Given the description of an element on the screen output the (x, y) to click on. 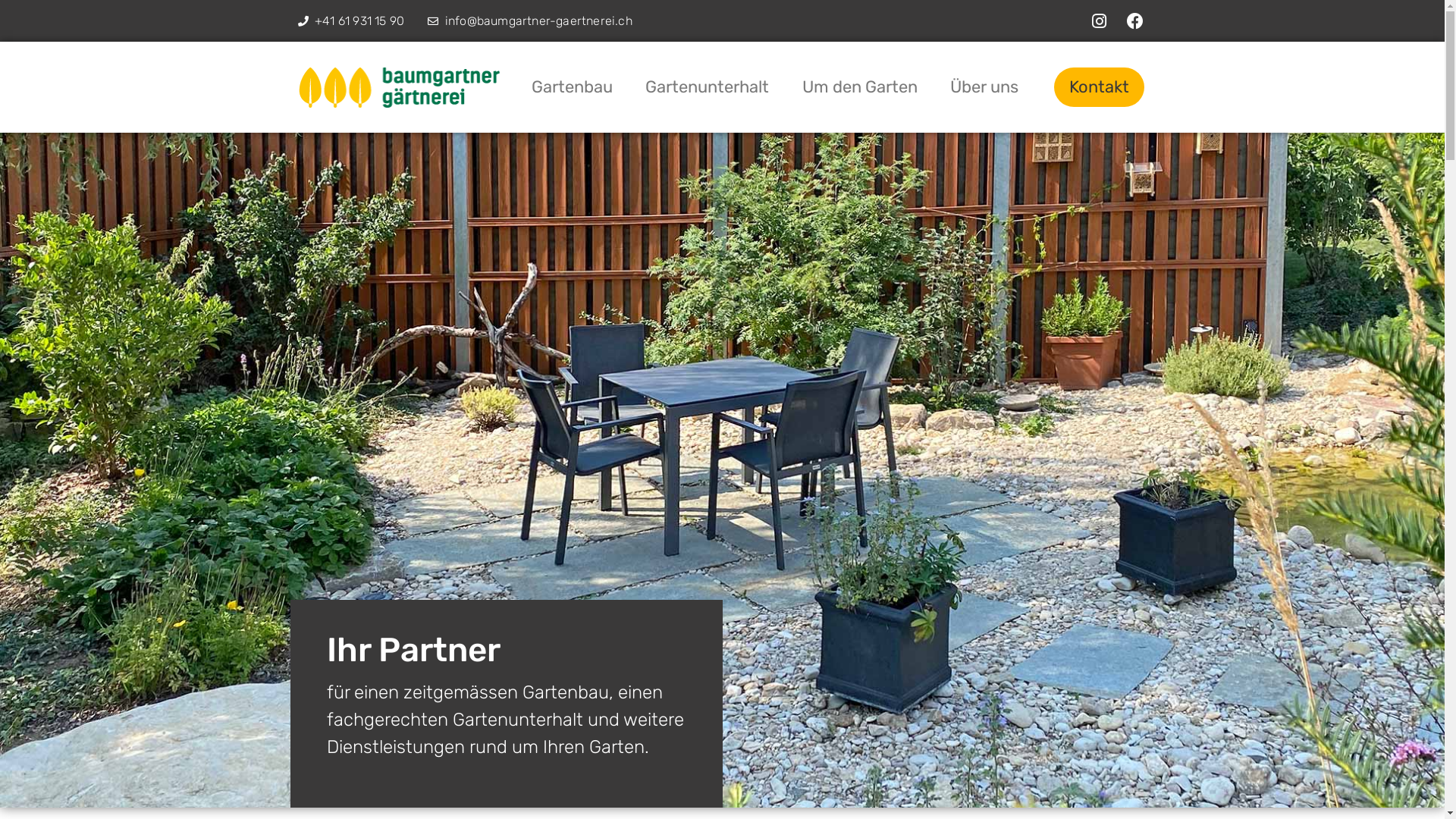
+41 61 931 15 90 Element type: text (350, 21)
Gartenunterhalt Element type: text (707, 86)
Gartenbau Element type: text (571, 86)
Kontakt Element type: text (1099, 86)
Um den Garten Element type: text (859, 86)
info@baumgartner-gaertnerei.ch Element type: text (529, 21)
